Given the description of an element on the screen output the (x, y) to click on. 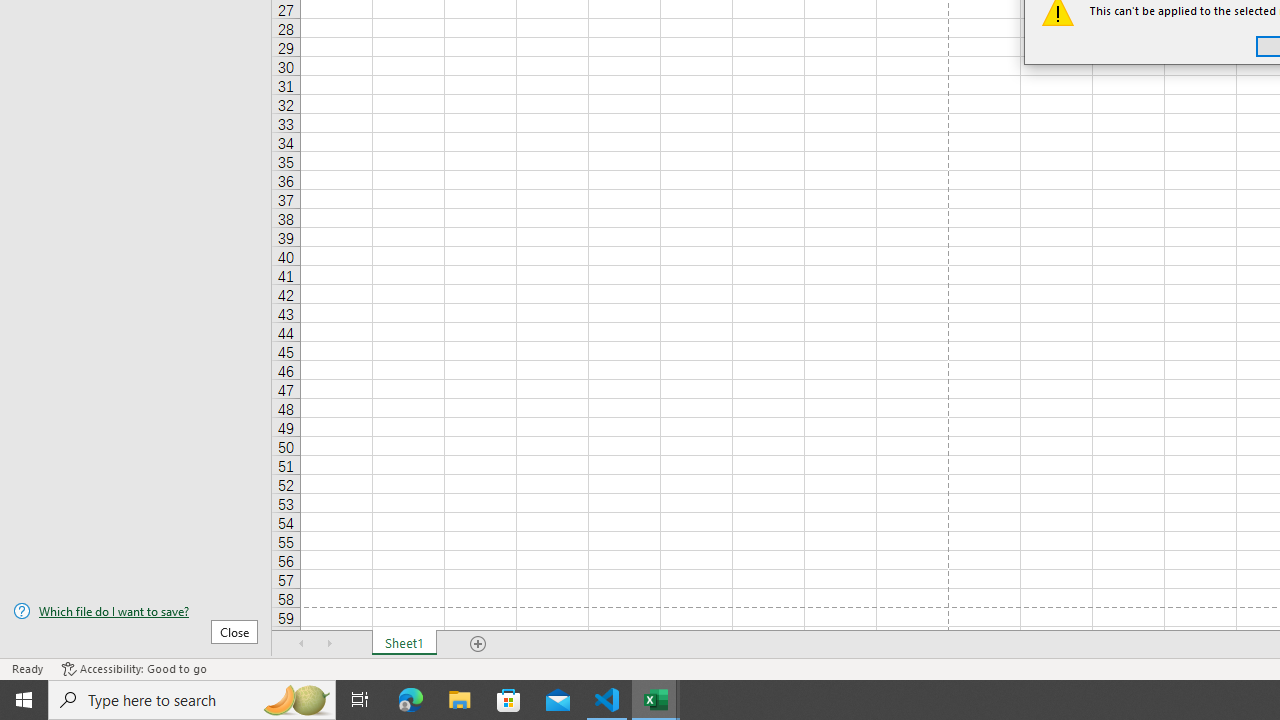
Excel - 2 running windows (656, 699)
Microsoft Edge (411, 699)
Visual Studio Code - 1 running window (607, 699)
Type here to search (191, 699)
Task View (359, 699)
Start (24, 699)
Which file do I want to save? (136, 611)
Microsoft Store (509, 699)
File Explorer (460, 699)
